Given the description of an element on the screen output the (x, y) to click on. 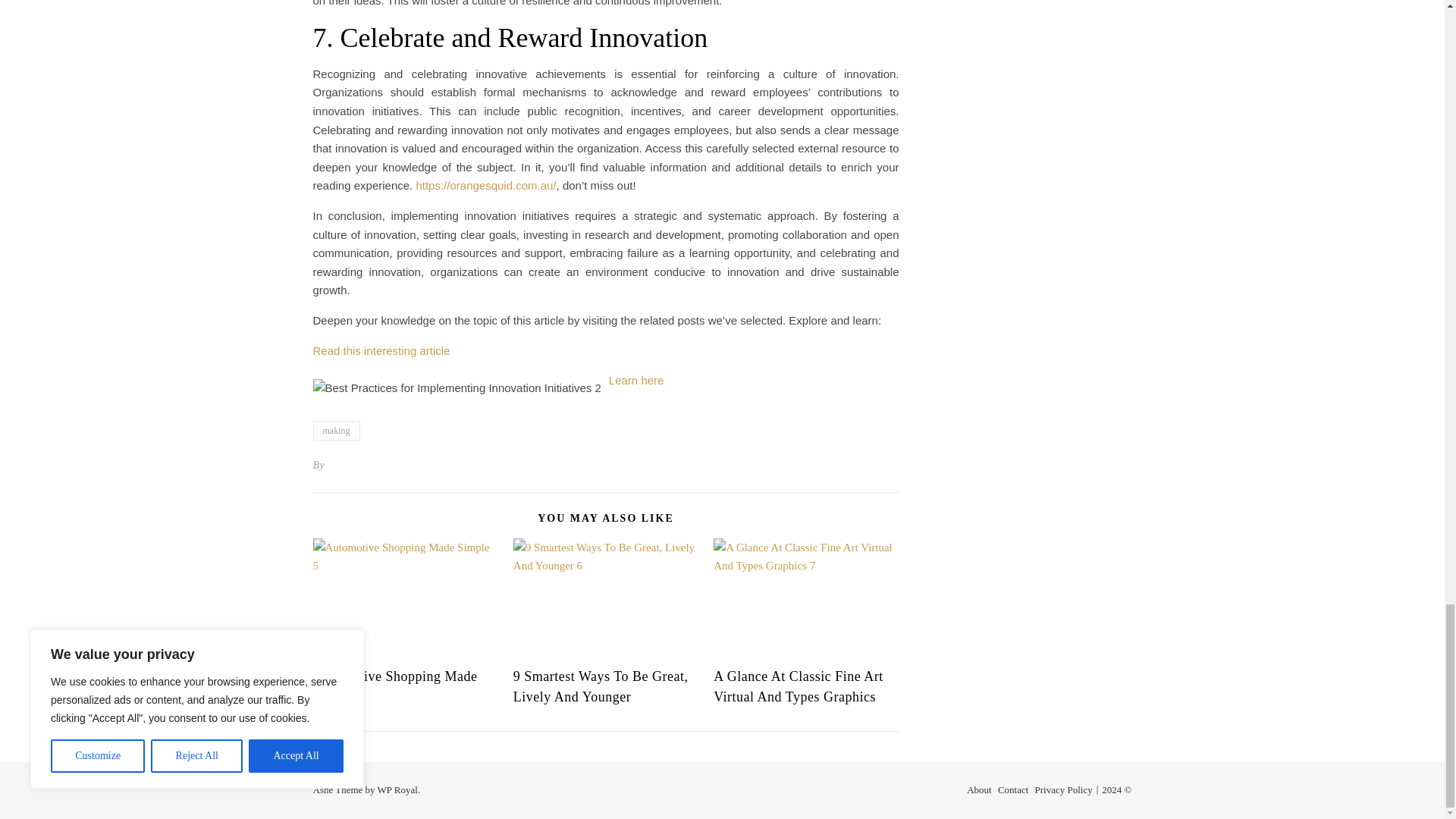
9 Smartest Ways To Be Great, Lively And Younger (600, 686)
Automotive Shopping Made Simple (395, 686)
Read this interesting article (381, 350)
A Glance At Classic Fine Art Virtual And Types Graphics (797, 686)
Learn here (635, 379)
making (336, 430)
